Given the description of an element on the screen output the (x, y) to click on. 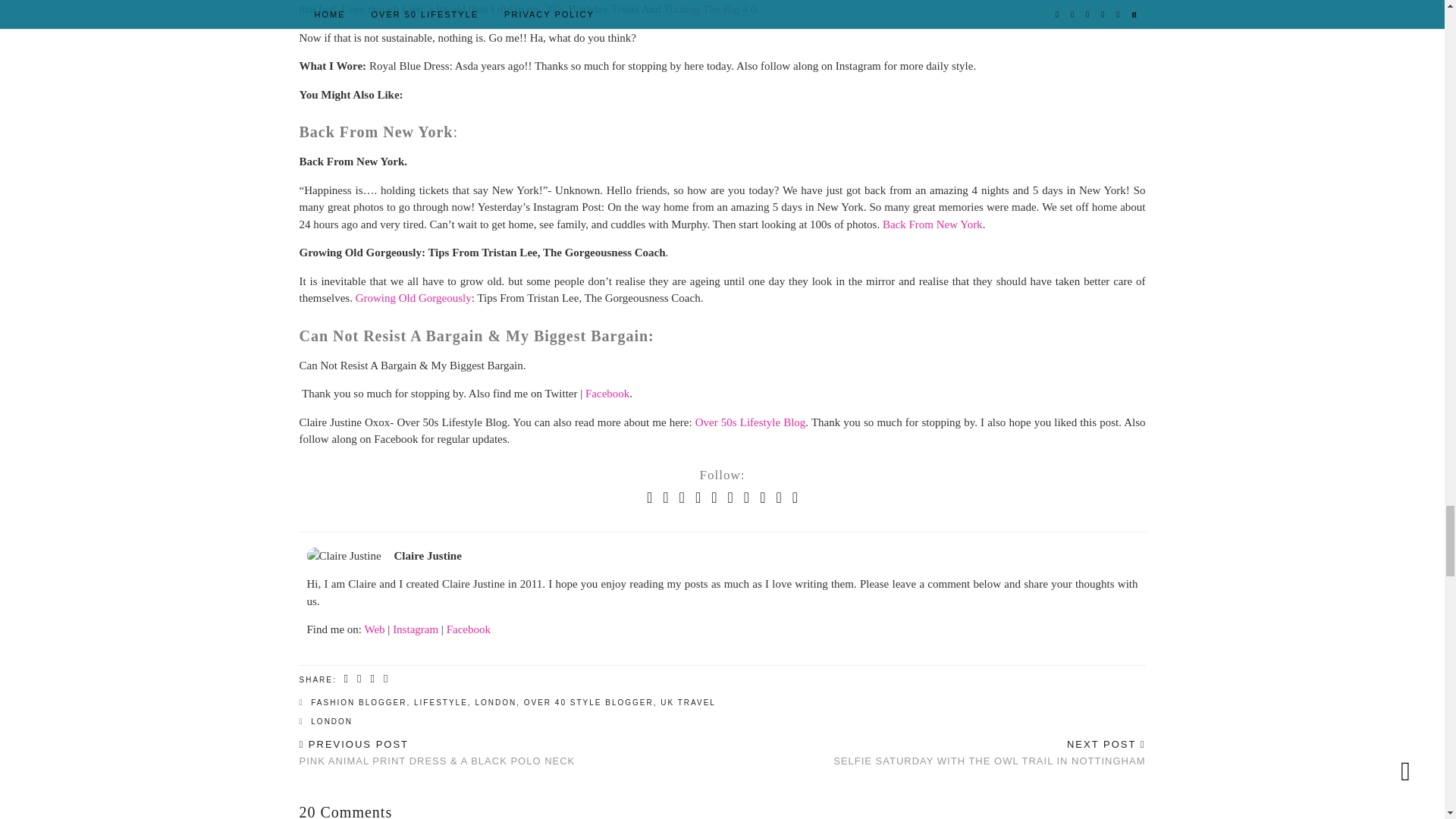
FASHION BLOGGER (358, 702)
Facebook (468, 629)
Over 50s Lifestyle Blog (750, 422)
Back From New York (932, 224)
Web (374, 629)
Growing Old Gorgeously (413, 297)
Instagram (415, 629)
Facebook (606, 393)
Turning The Big 4 0 (710, 9)
